Given the description of an element on the screen output the (x, y) to click on. 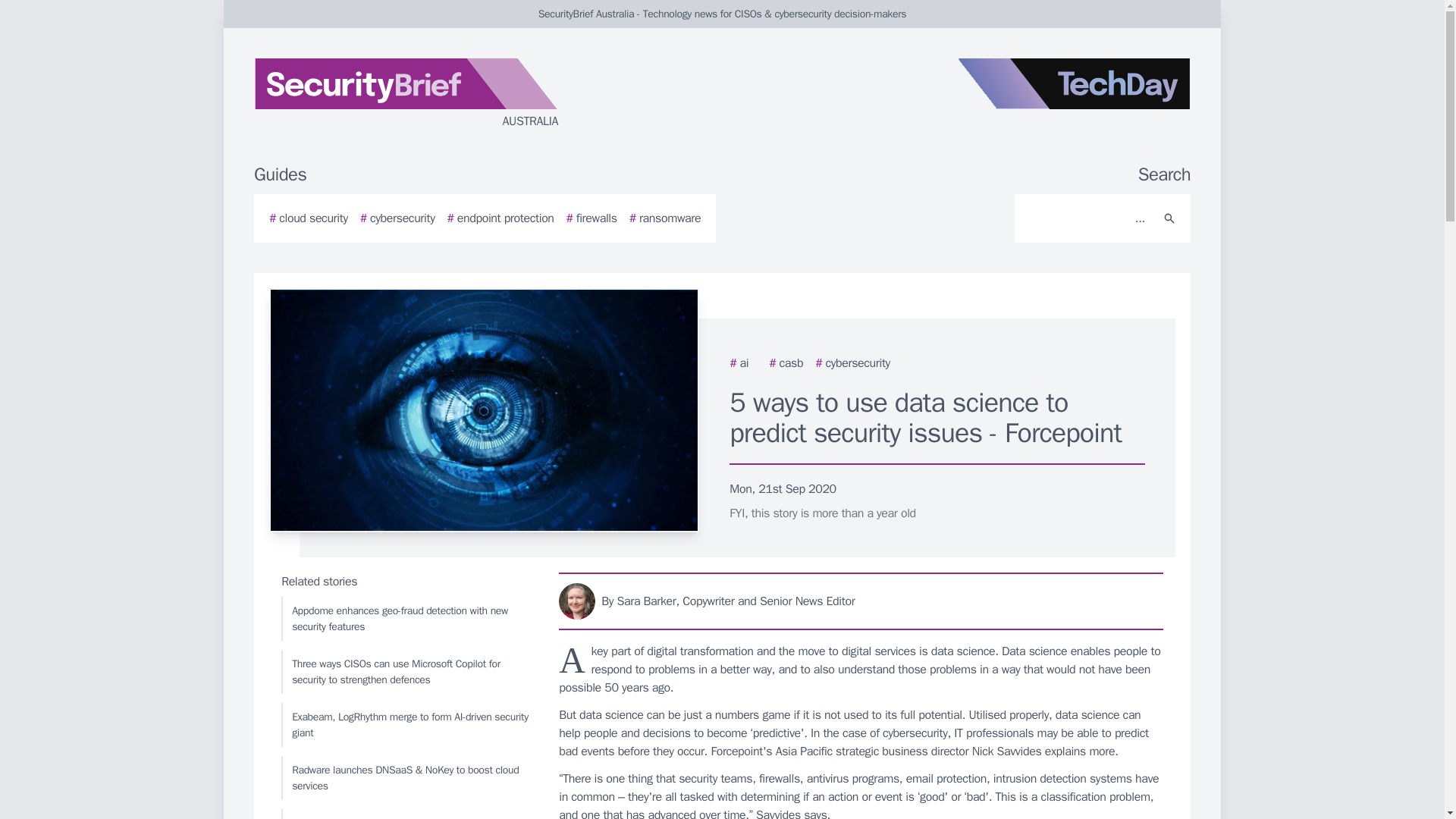
By Sara Barker, Copywriter and Senior News Editor (861, 601)
Exabeam, LogRhythm merge to form AI-driven security giant (406, 724)
AUSTRALIA (435, 94)
